Given the description of an element on the screen output the (x, y) to click on. 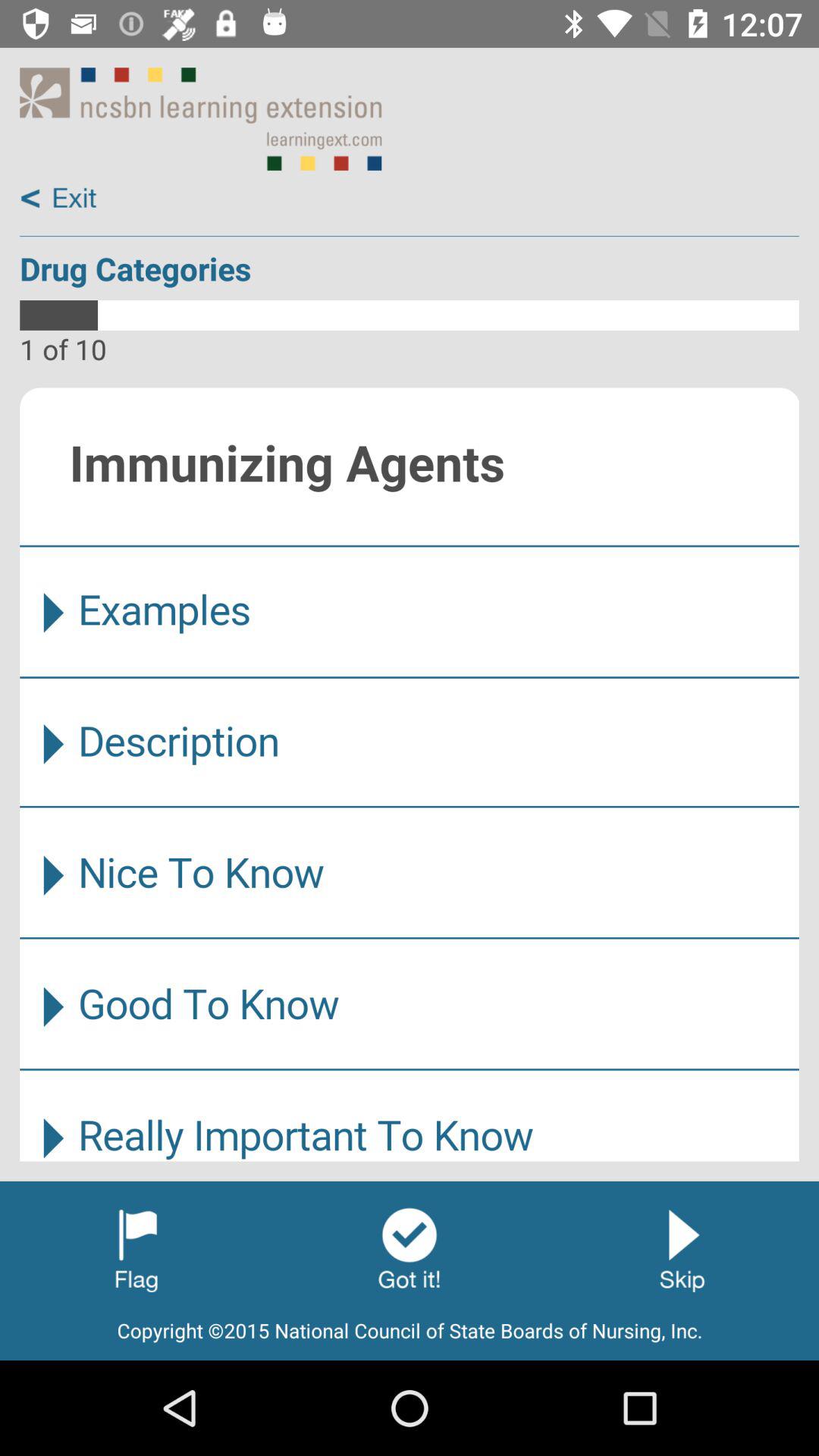
go to back (58, 198)
